Given the description of an element on the screen output the (x, y) to click on. 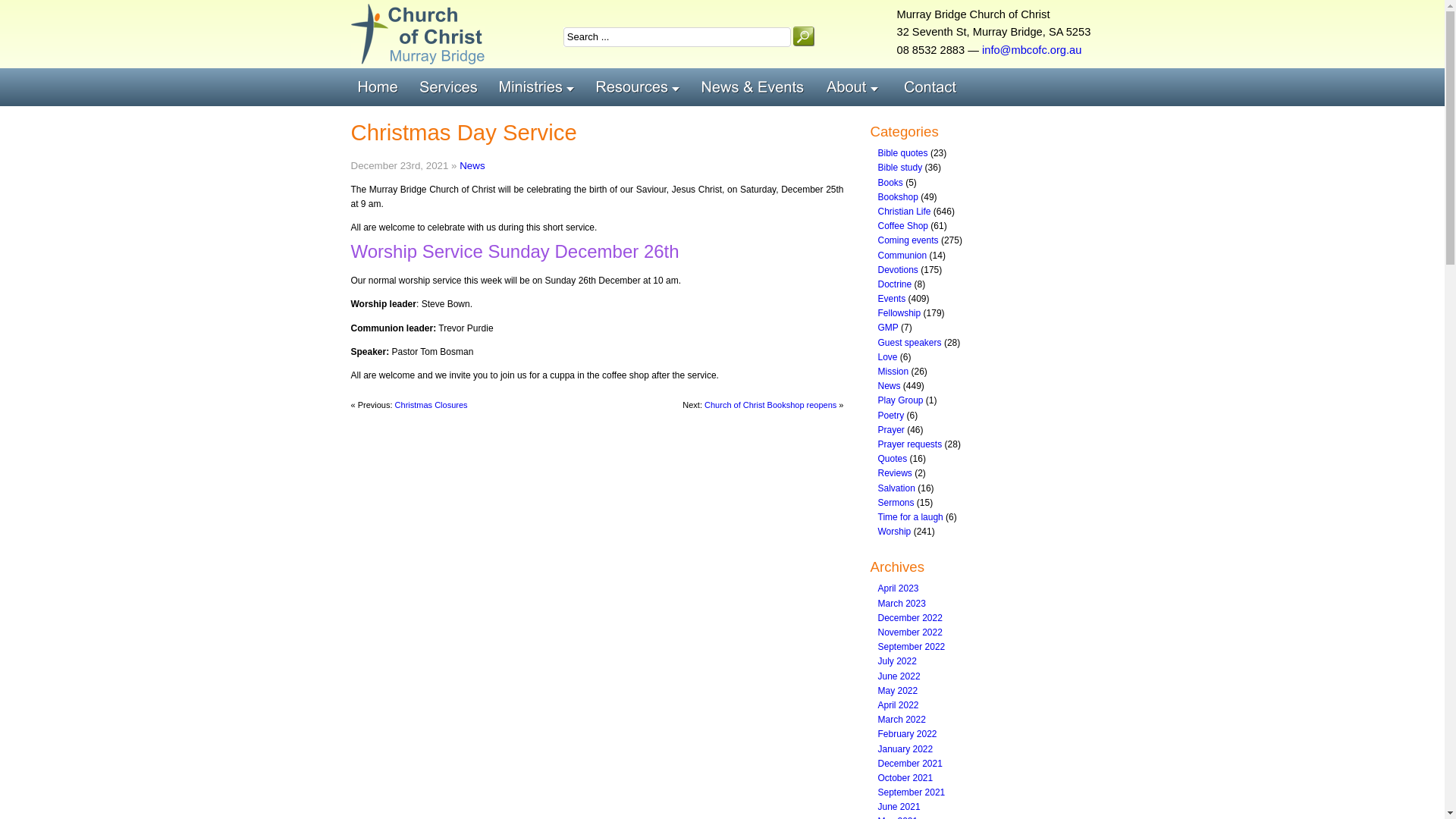
February 2022 Element type: text (907, 733)
News & Events Element type: text (756, 87)
Murray Bridge Church of Christ Element type: text (416, 34)
May 2022 Element type: text (898, 690)
October 2021 Element type: text (905, 777)
Doctrine Element type: text (895, 284)
Communion Element type: text (902, 255)
Search Element type: text (803, 36)
Sermons Element type: text (896, 502)
Resources & Links Element type: text (640, 87)
News Element type: text (889, 385)
Services Element type: text (452, 87)
Contact Us Element type: text (933, 87)
Guest speakers Element type: text (909, 342)
Prayer Element type: text (891, 429)
March 2023 Element type: text (901, 603)
Time for a laugh Element type: text (910, 516)
Ministries Element type: text (539, 87)
Quotes Element type: text (892, 458)
Worship Element type: text (894, 531)
June 2021 Element type: text (899, 806)
July 2022 Element type: text (897, 660)
Prayer requests Element type: text (910, 444)
info@mbcofc.org.au Element type: text (1031, 49)
June 2022 Element type: text (899, 676)
November 2022 Element type: text (910, 632)
GMP Element type: text (888, 327)
September 2022 Element type: text (911, 646)
Bible study Element type: text (900, 167)
Devotions Element type: text (898, 269)
April 2023 Element type: text (898, 588)
Fellowship Element type: text (899, 312)
Home Page Element type: text (380, 87)
Reviews Element type: text (895, 472)
Bookshop Element type: text (898, 196)
Salvation Element type: text (896, 487)
News Element type: text (471, 165)
Events Element type: text (892, 298)
Mission Element type: text (893, 371)
September 2021 Element type: text (911, 792)
December 2021 Element type: text (910, 763)
March 2022 Element type: text (901, 719)
Love Element type: text (887, 356)
Church of Christ Bookshop reopens Element type: text (770, 404)
Christmas Closures Element type: text (431, 404)
About Us Element type: text (858, 87)
Coffee Shop Element type: text (903, 225)
Play Group Element type: text (900, 400)
Christian Life Element type: text (904, 211)
December 2022 Element type: text (910, 617)
Coming events Element type: text (908, 240)
Poetry Element type: text (891, 415)
Bible quotes Element type: text (903, 152)
Books Element type: text (890, 182)
January 2022 Element type: text (905, 748)
April 2022 Element type: text (898, 704)
